Given the description of an element on the screen output the (x, y) to click on. 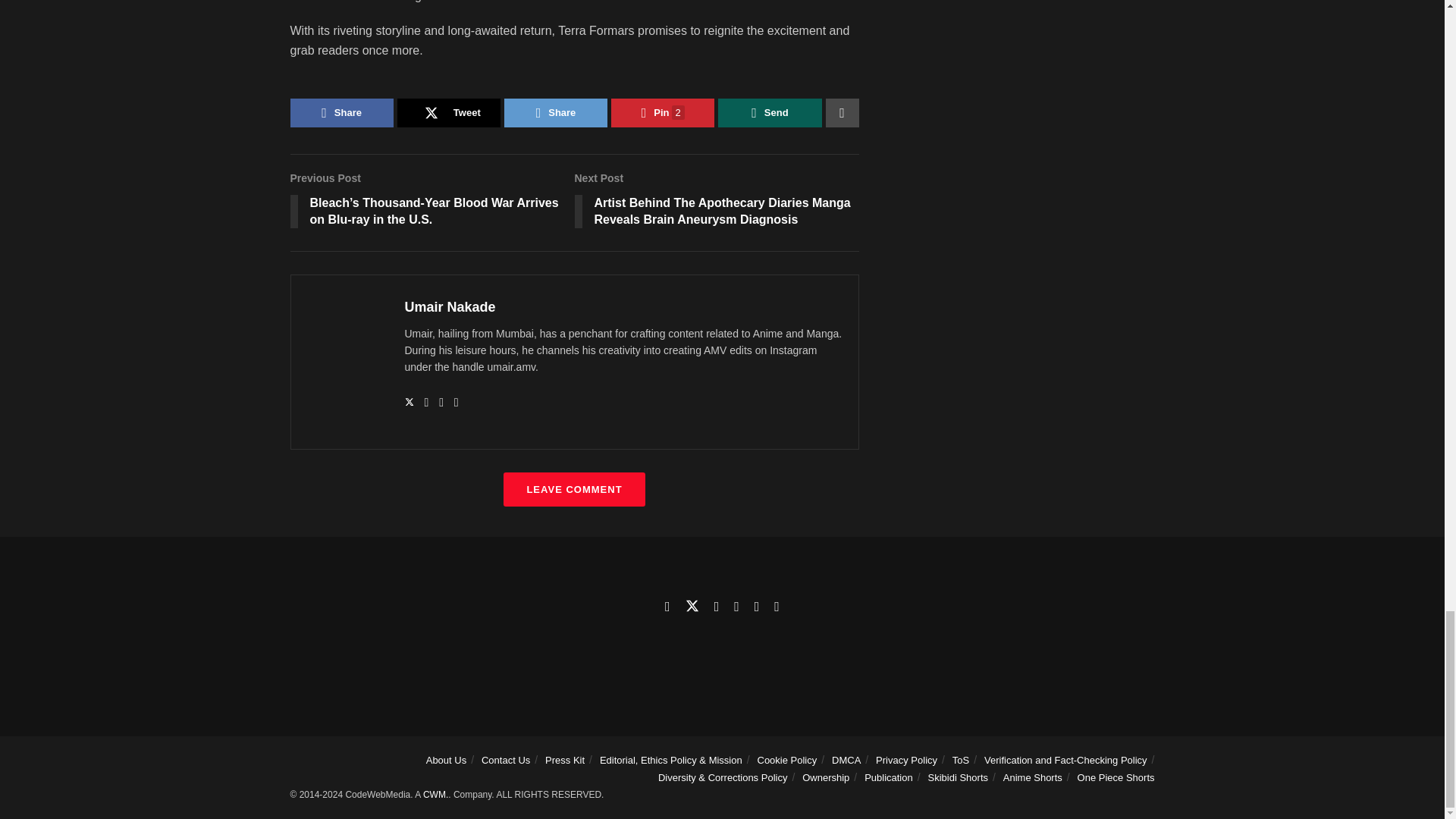
Send (769, 112)
Umair Nakade (450, 306)
Share (555, 112)
Pin2 (662, 112)
Tweet (448, 112)
Share (341, 112)
